Given the description of an element on the screen output the (x, y) to click on. 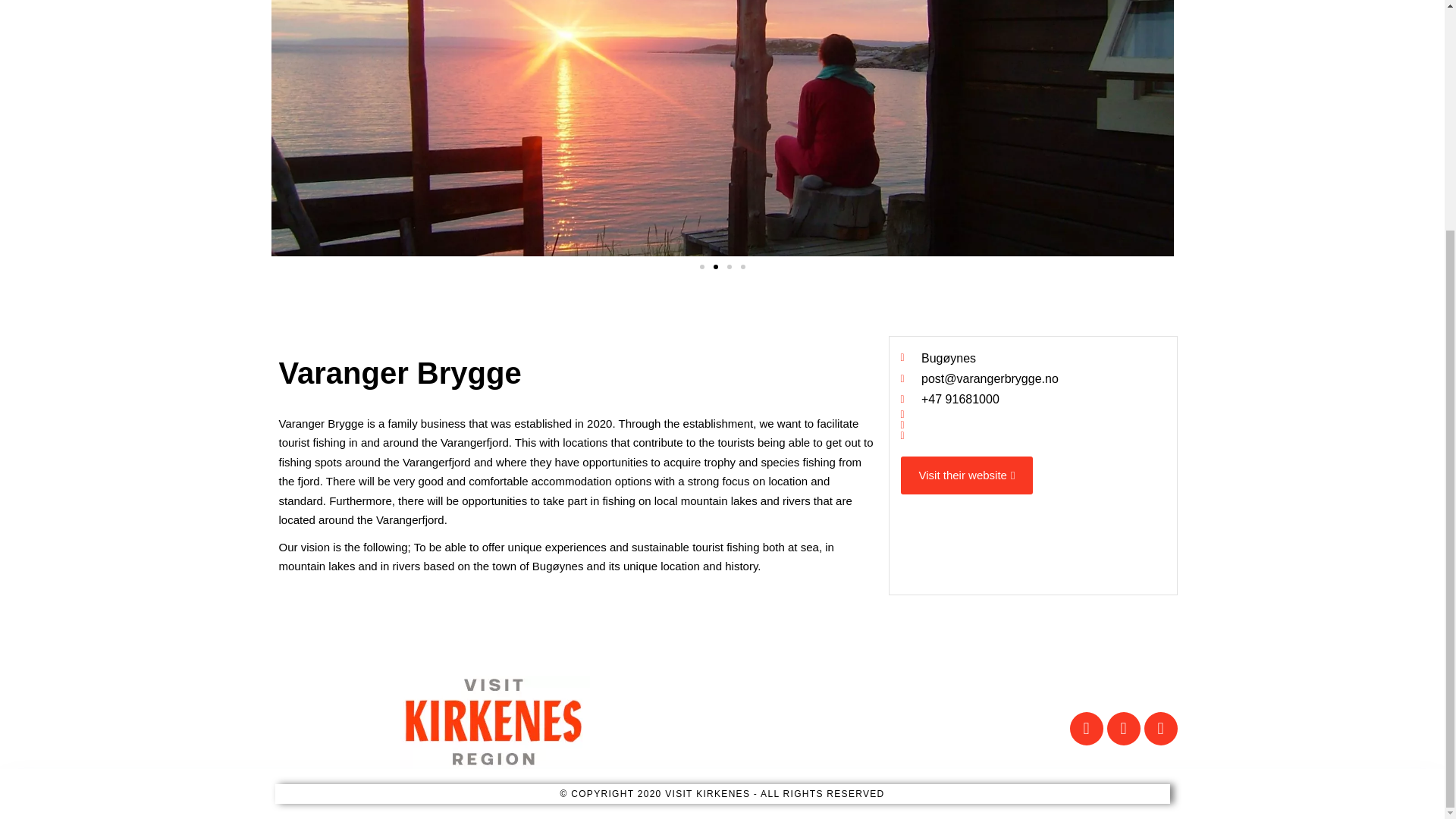
Visit their website (967, 475)
